Given the description of an element on the screen output the (x, y) to click on. 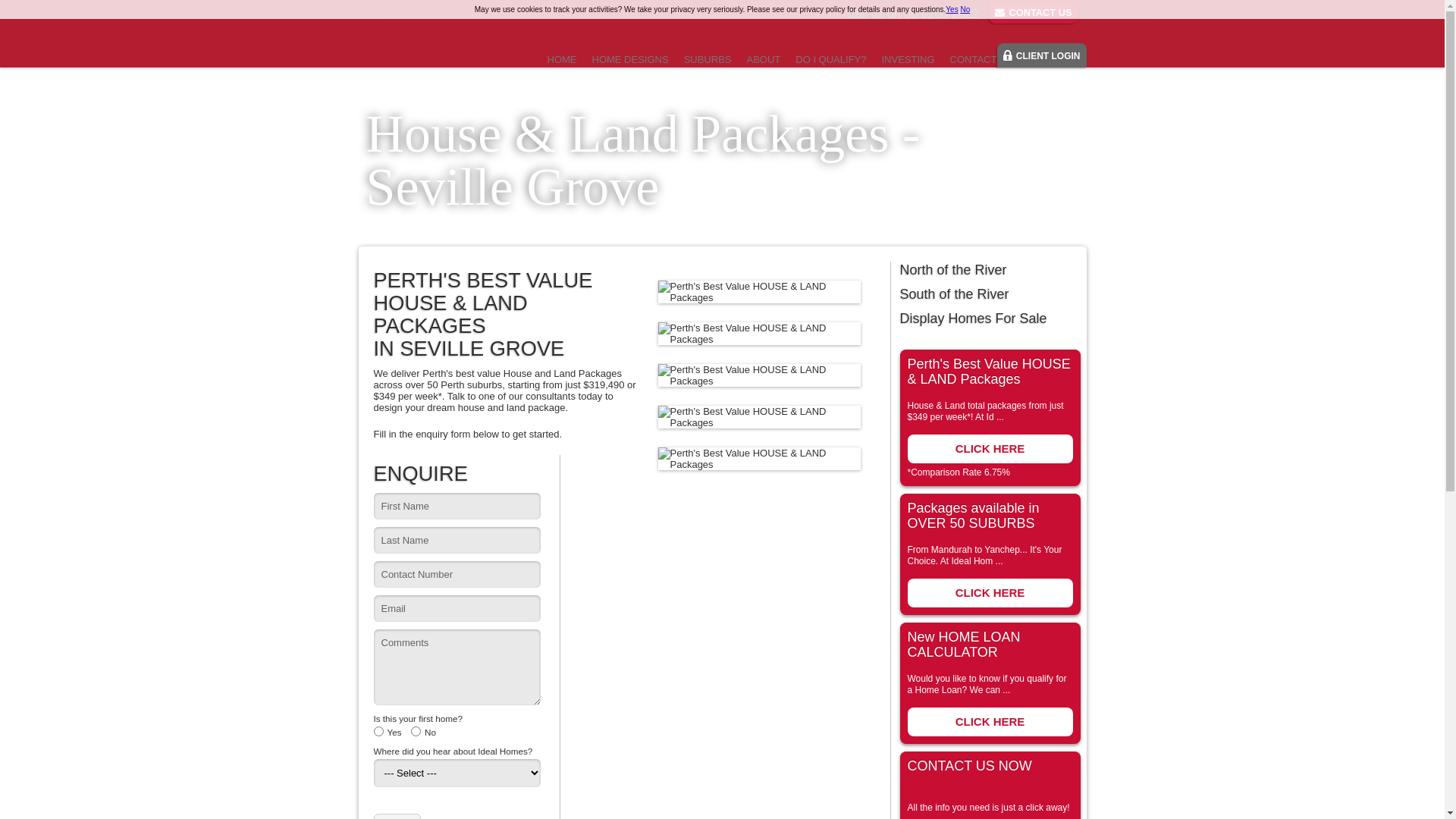
CLIENT LOGIN Element type: text (1041, 55)
Email Element type: hover (456, 608)
HOME Element type: text (561, 59)
INVESTING Element type: text (907, 59)
SUBURBS Element type: text (707, 59)
Yes Element type: text (951, 9)
South of the River Element type: text (988, 293)
ABOUT Element type: text (762, 59)
North of the River Element type: text (988, 269)
Display Homes For Sale Element type: text (988, 318)
Ideal Homes Element type: text (429, 39)
No Element type: text (964, 9)
HOME DESIGNS Element type: text (629, 59)
Contact Number Element type: hover (456, 574)
CONTACT Element type: text (973, 59)
DO I QUALIFY? Element type: text (830, 59)
CONTACT US Element type: text (1032, 12)
